Given the description of an element on the screen output the (x, y) to click on. 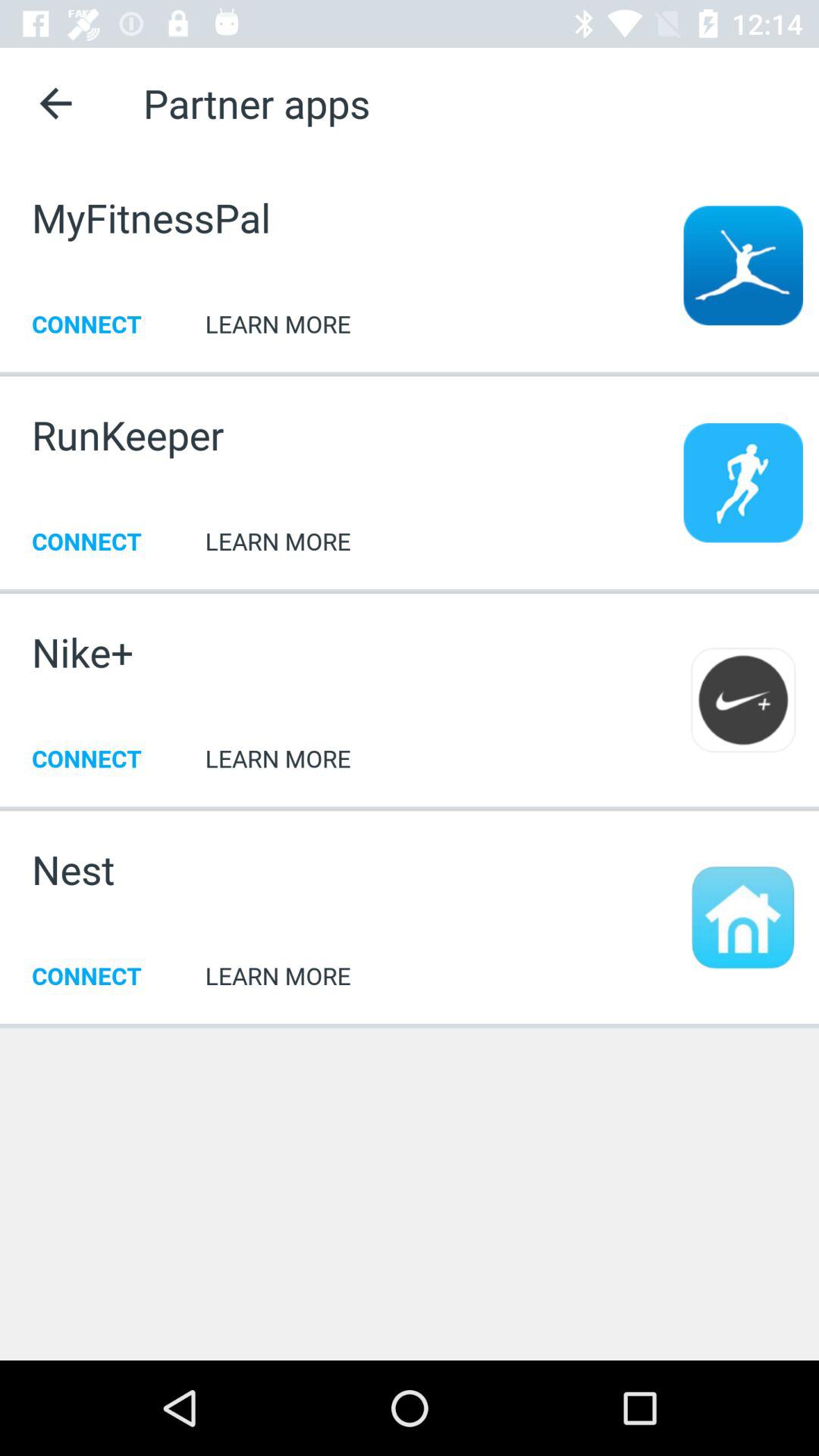
click on the back arrow (55, 103)
